Given the description of an element on the screen output the (x, y) to click on. 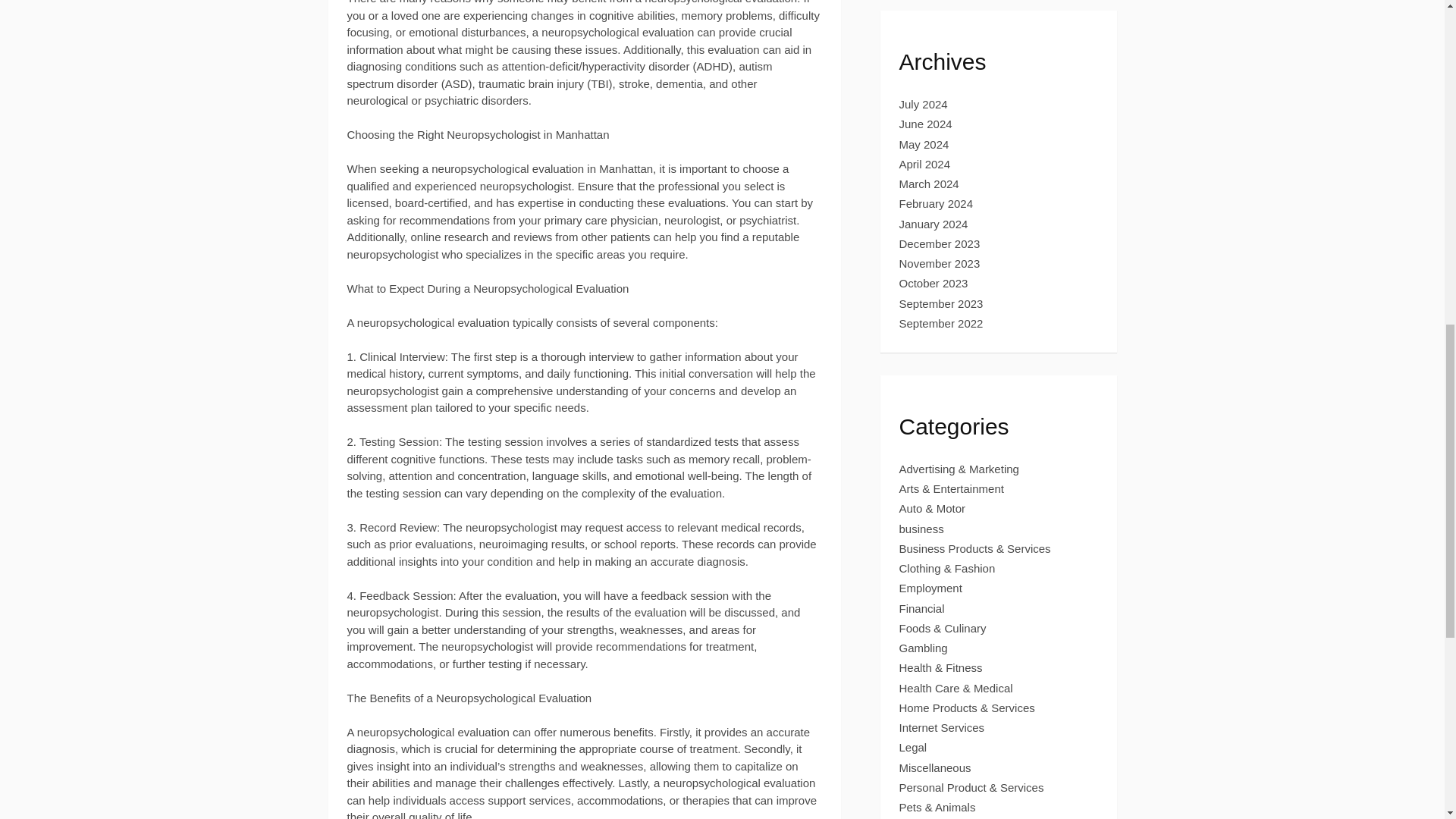
December 2023 (939, 243)
July 2024 (923, 103)
June 2024 (925, 123)
September 2023 (941, 303)
February 2024 (936, 203)
October 2023 (933, 282)
Employment (930, 587)
January 2024 (933, 223)
business (921, 528)
November 2023 (939, 263)
September 2022 (941, 323)
May 2024 (924, 144)
April 2024 (924, 164)
March 2024 (929, 183)
